Given the description of an element on the screen output the (x, y) to click on. 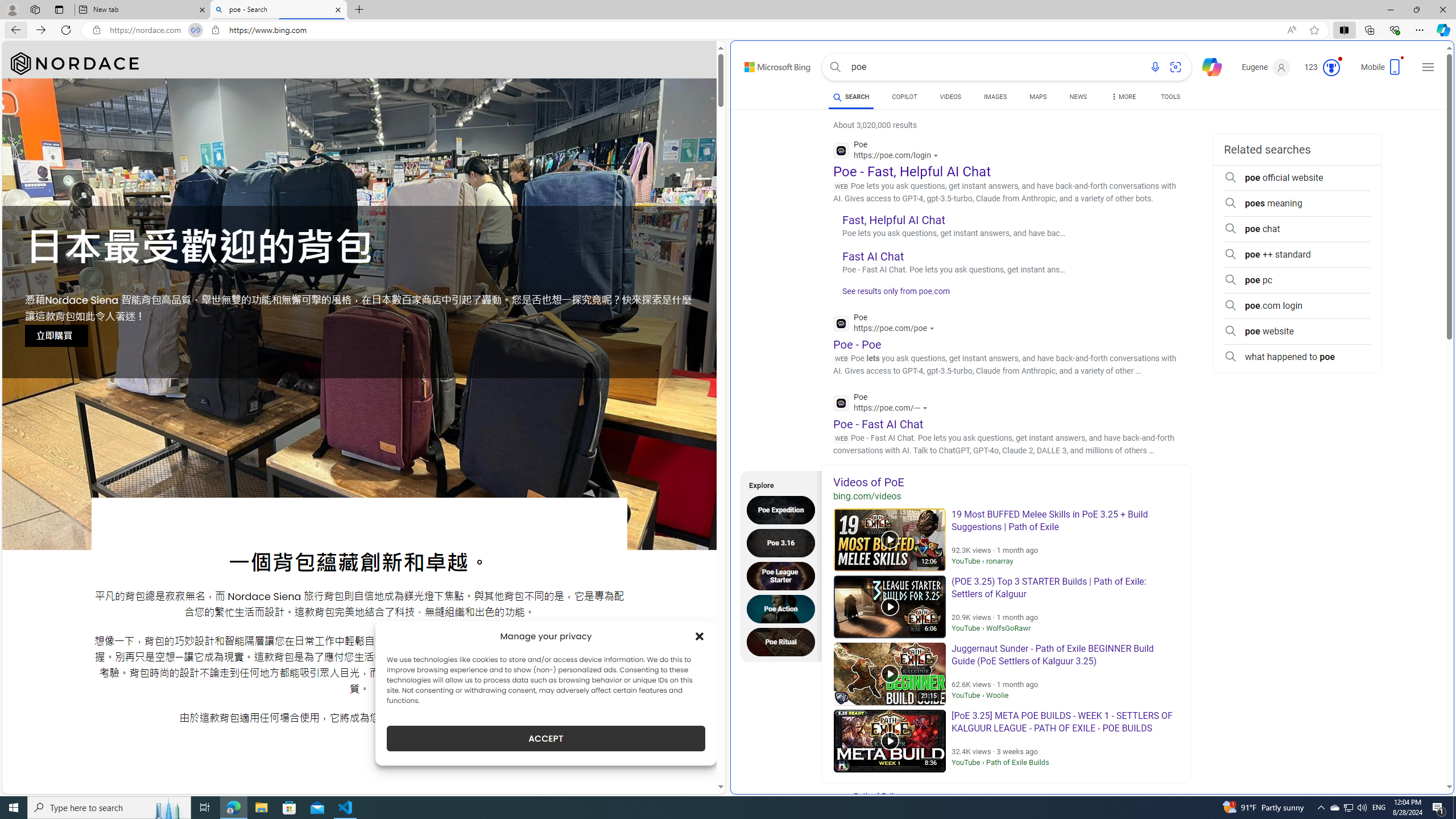
poe - Search (277, 9)
Dropdown Menu (1123, 96)
Mobile (1382, 70)
Chat (1207, 65)
poe website (1297, 331)
Actions for this site (926, 408)
Poe Action (783, 608)
MAPS (1038, 96)
Search using an image (1174, 66)
